Given the description of an element on the screen output the (x, y) to click on. 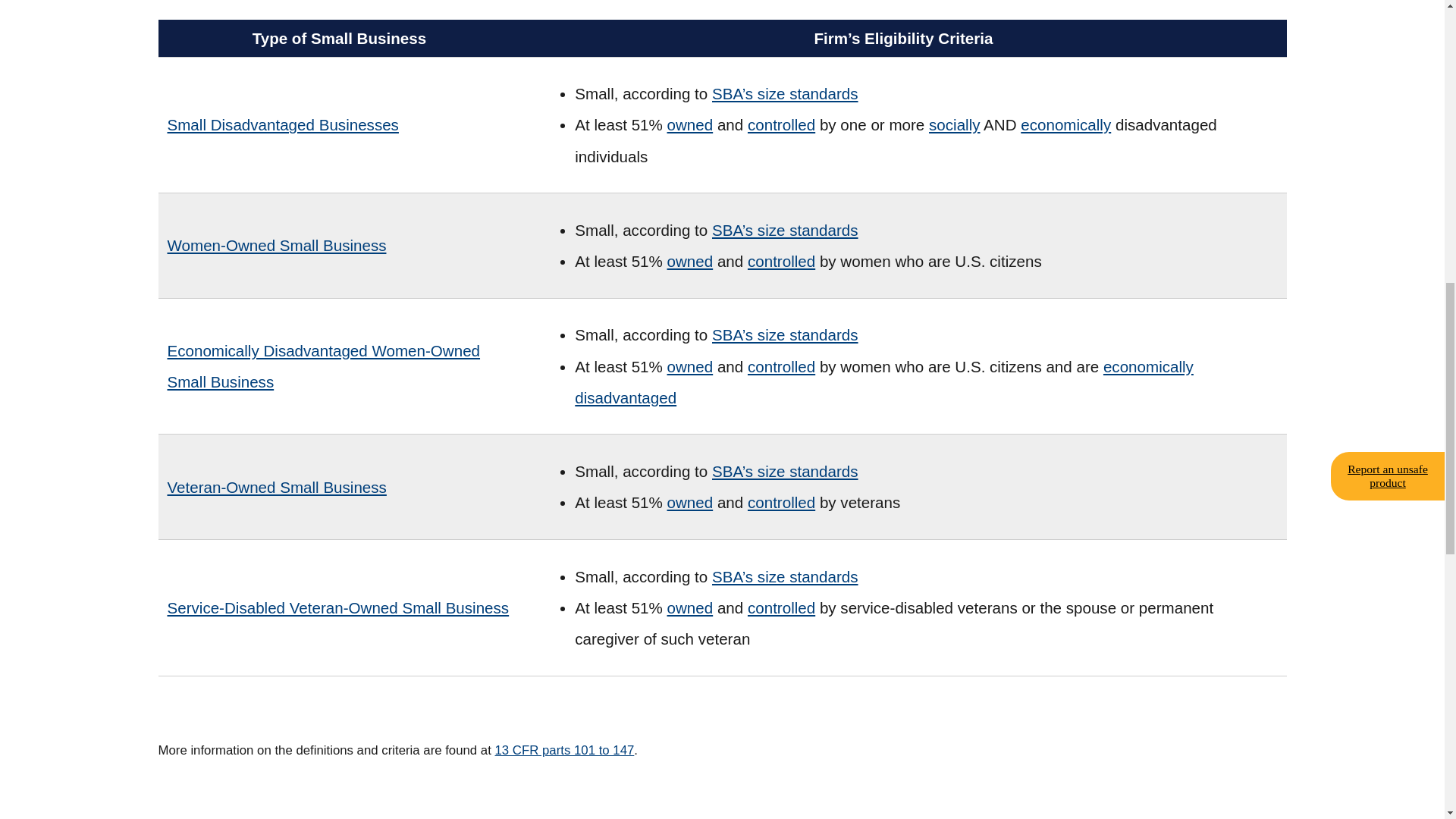
Women-Owned Small Business (276, 245)
socially (953, 124)
controlled (781, 124)
owned (689, 124)
Economically Disadvantaged Women-Owned Small Business (339, 365)
Small Disadvantaged Businesses (282, 124)
controlled (781, 261)
owned (689, 261)
economically (1065, 124)
owned (689, 366)
